Given the description of an element on the screen output the (x, y) to click on. 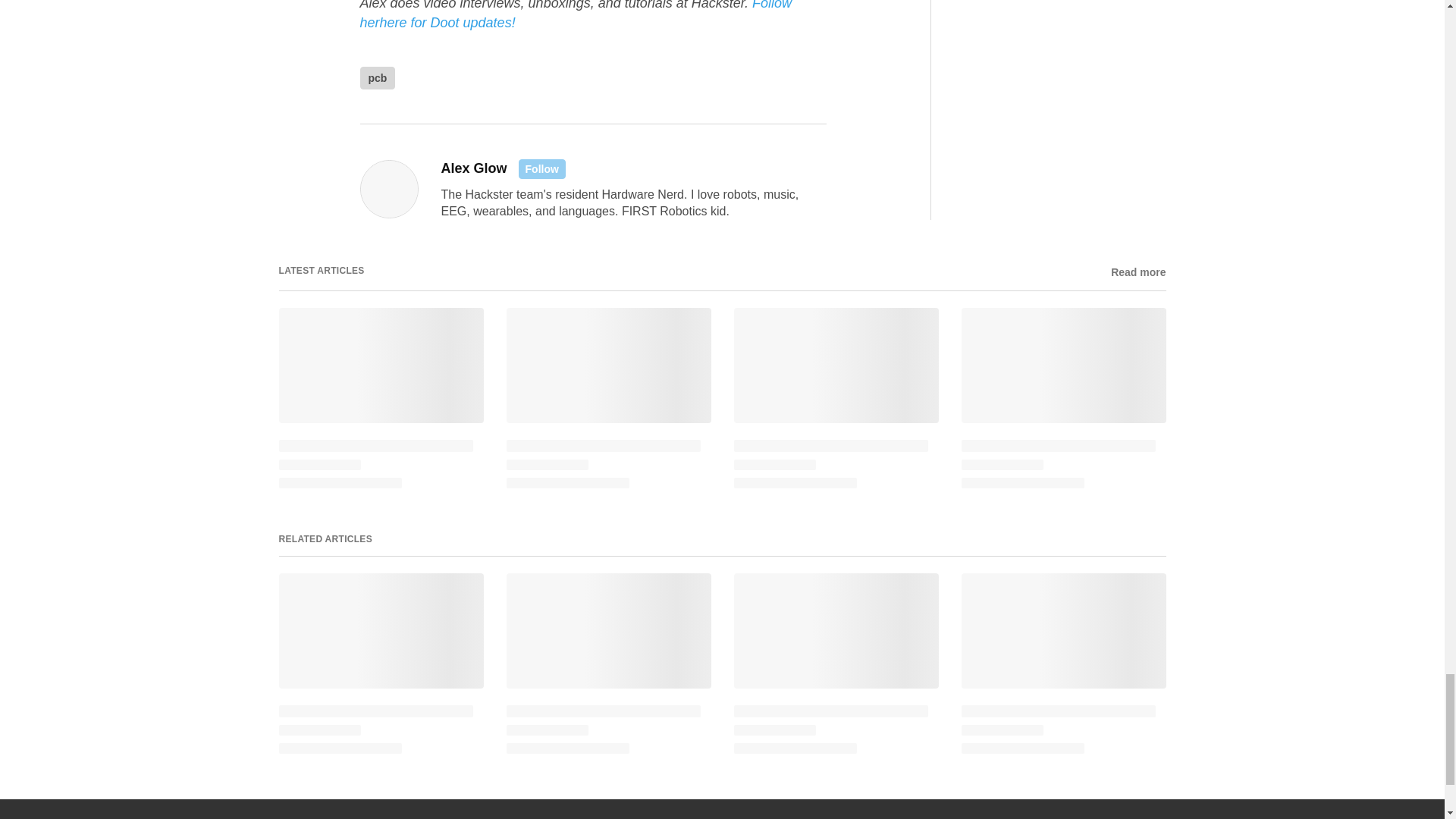
here for Doot updates! (447, 22)
pcb (376, 77)
Follow her (575, 15)
